Given the description of an element on the screen output the (x, y) to click on. 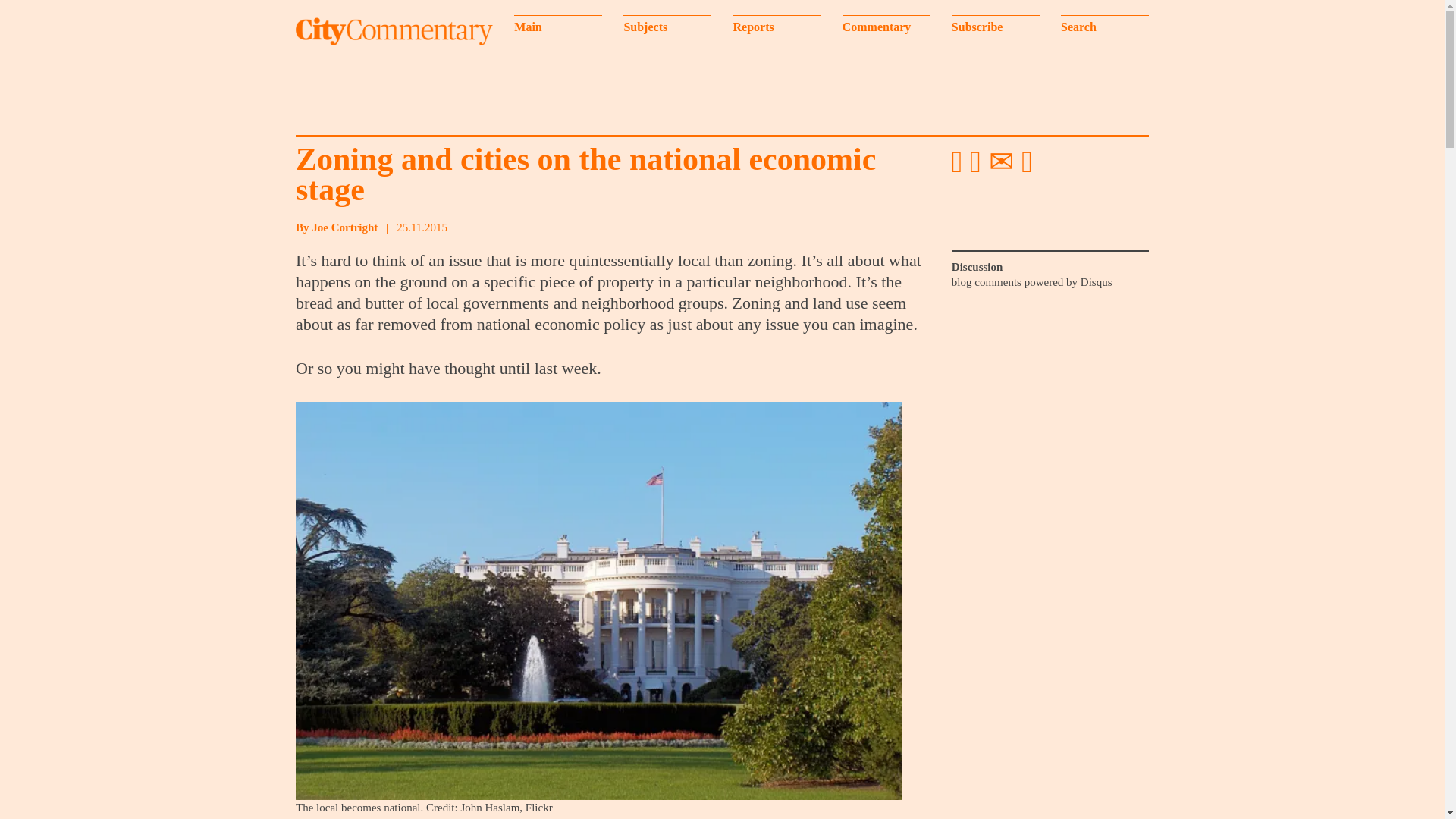
Reports (777, 25)
Commentary (886, 25)
Subjects (667, 25)
blog comments powered by Disqus (1032, 282)
Main (557, 25)
Subscribe (995, 25)
Search (1104, 25)
